Given the description of an element on the screen output the (x, y) to click on. 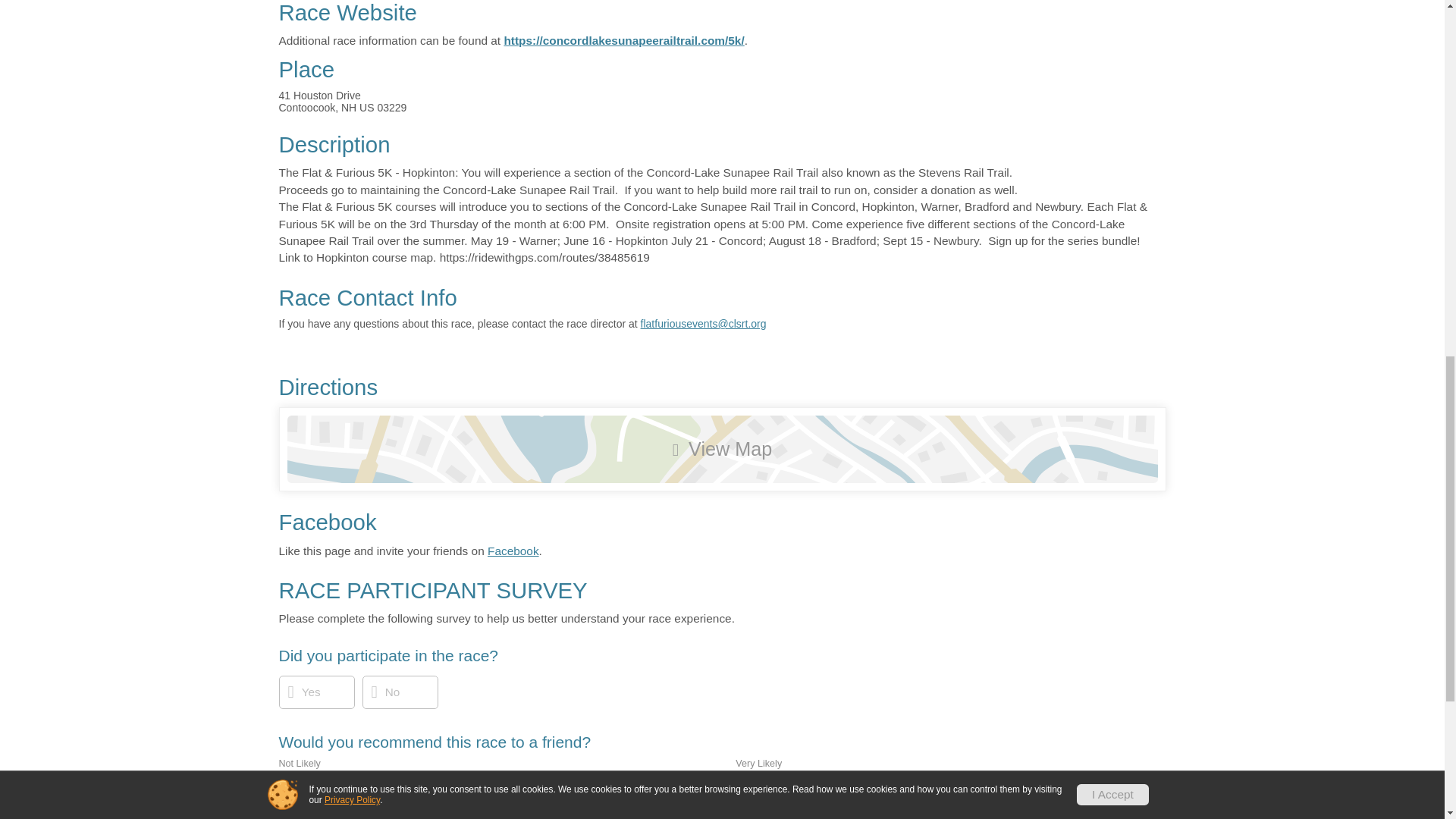
7 (629, 789)
5 (539, 789)
4 (493, 789)
Facebook (512, 550)
8 (675, 789)
10 (770, 789)
2 (401, 789)
0 (310, 789)
View Map (721, 449)
1 (355, 789)
9 (721, 789)
3 (447, 789)
6 (584, 789)
